Given the description of an element on the screen output the (x, y) to click on. 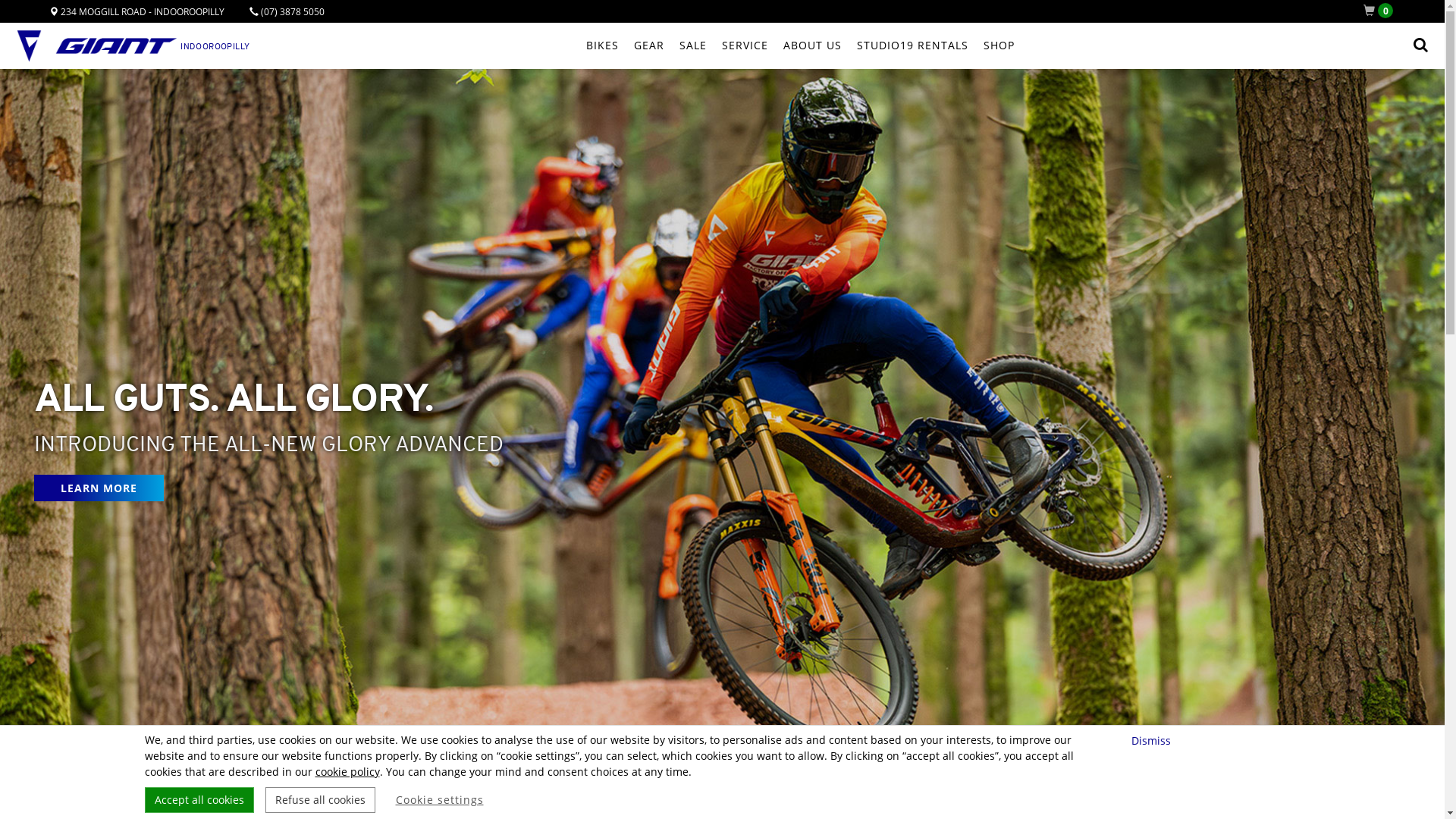
GEAR Element type: text (648, 45)
SERVICE Element type: text (744, 45)
ABOUT US Element type: text (811, 45)
STUDIO19 RENTALS Element type: text (912, 45)
LEARN MORE Element type: text (98, 487)
cookie policy Element type: text (347, 771)
SALE Element type: text (692, 45)
Cookie settings Element type: text (439, 799)
Refuse all cookies Element type: text (320, 799)
SHOP Element type: text (997, 45)
Dismiss Element type: text (1152, 740)
0 item(s) in cart
0
Total amount Element type: text (1381, 10)
BIKES Element type: text (601, 45)
Accept all cookies Element type: text (198, 799)
